Given the description of an element on the screen output the (x, y) to click on. 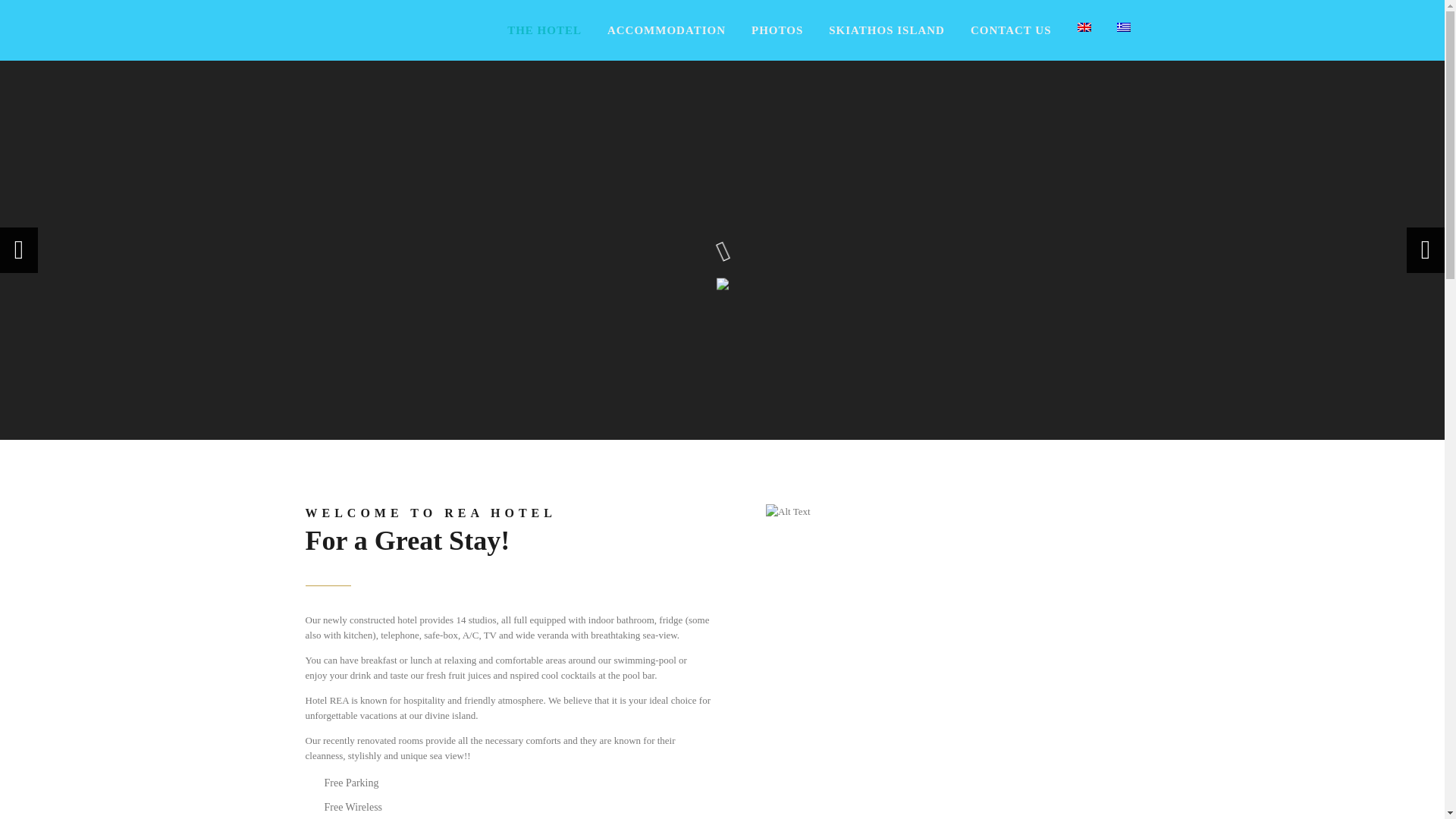
CONTACT US (1010, 29)
PHOTOS (777, 29)
ACCOMMODATION (666, 29)
THE HOTEL (544, 29)
SKIATHOS ISLAND (886, 29)
